Given the description of an element on the screen output the (x, y) to click on. 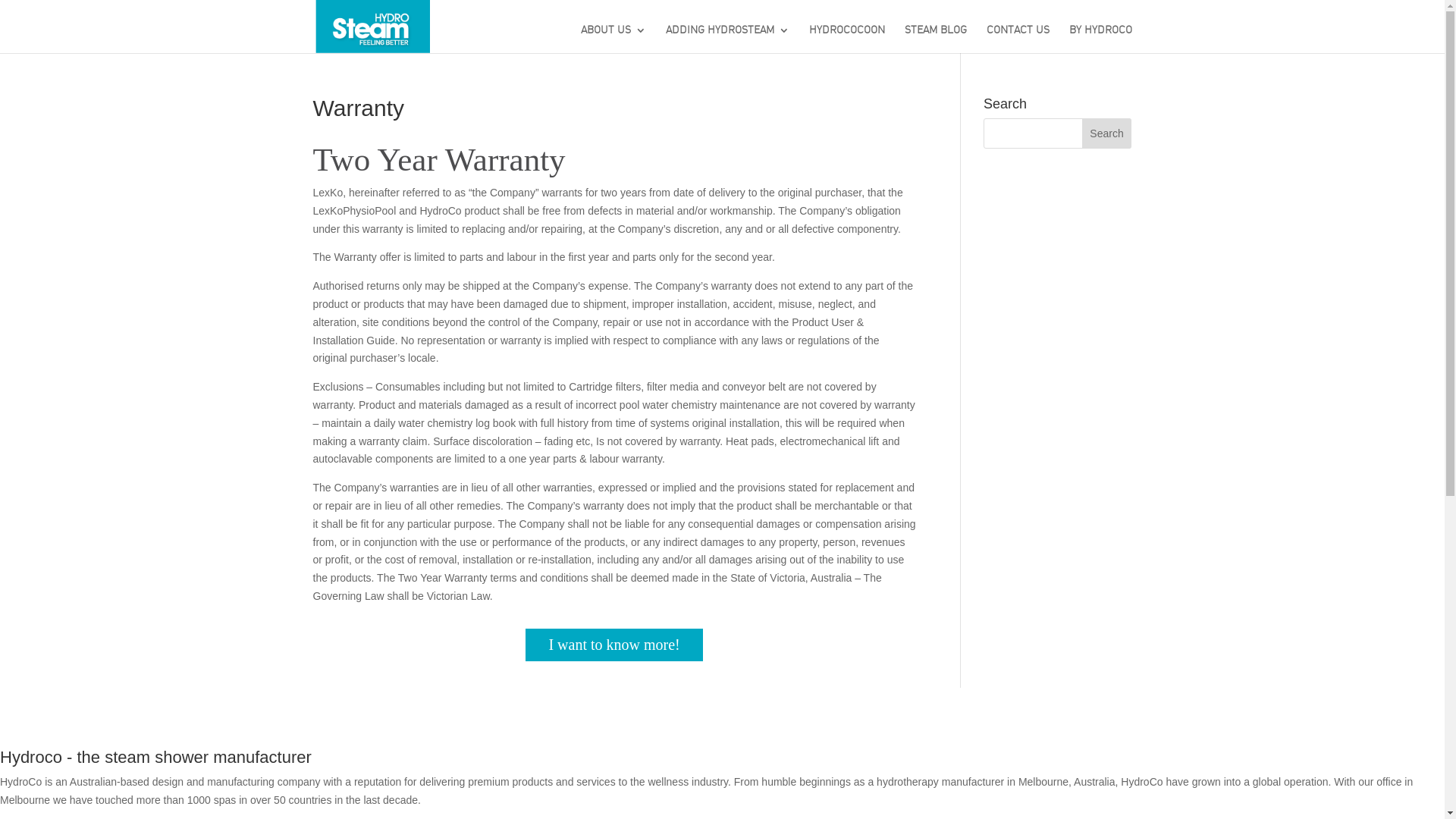
STEAM BLOG Element type: text (935, 42)
Search Element type: text (1107, 133)
ABOUT US Element type: text (613, 42)
BY HYDROCO Element type: text (1100, 42)
CONTACT US Element type: text (1017, 42)
HYDROCOCOON Element type: text (846, 42)
I want to know more! Element type: text (613, 644)
ADDING HYDROSTEAM Element type: text (727, 42)
